Given the description of an element on the screen output the (x, y) to click on. 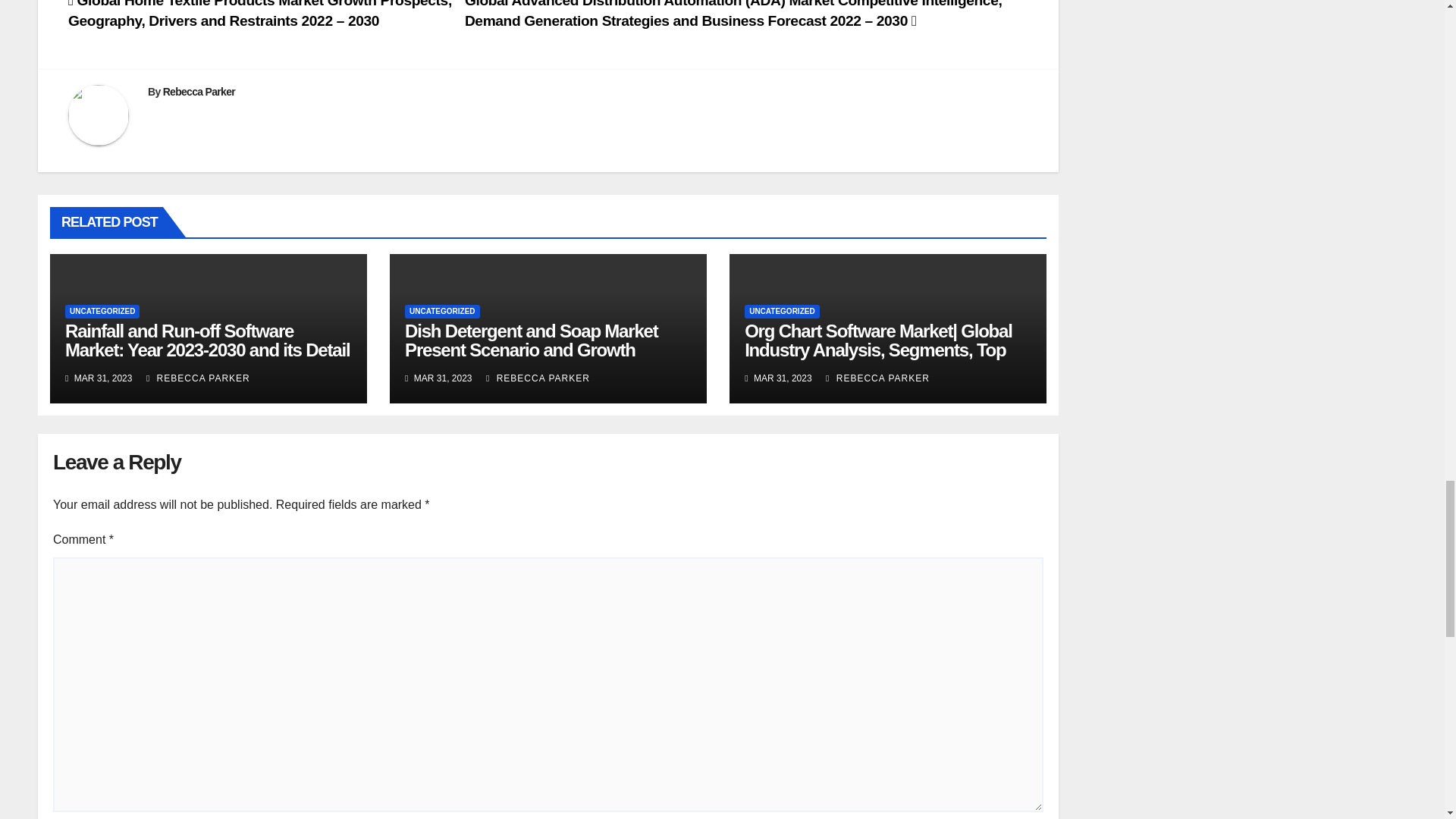
Rebecca Parker (198, 91)
UNCATEGORIZED (102, 311)
